Given the description of an element on the screen output the (x, y) to click on. 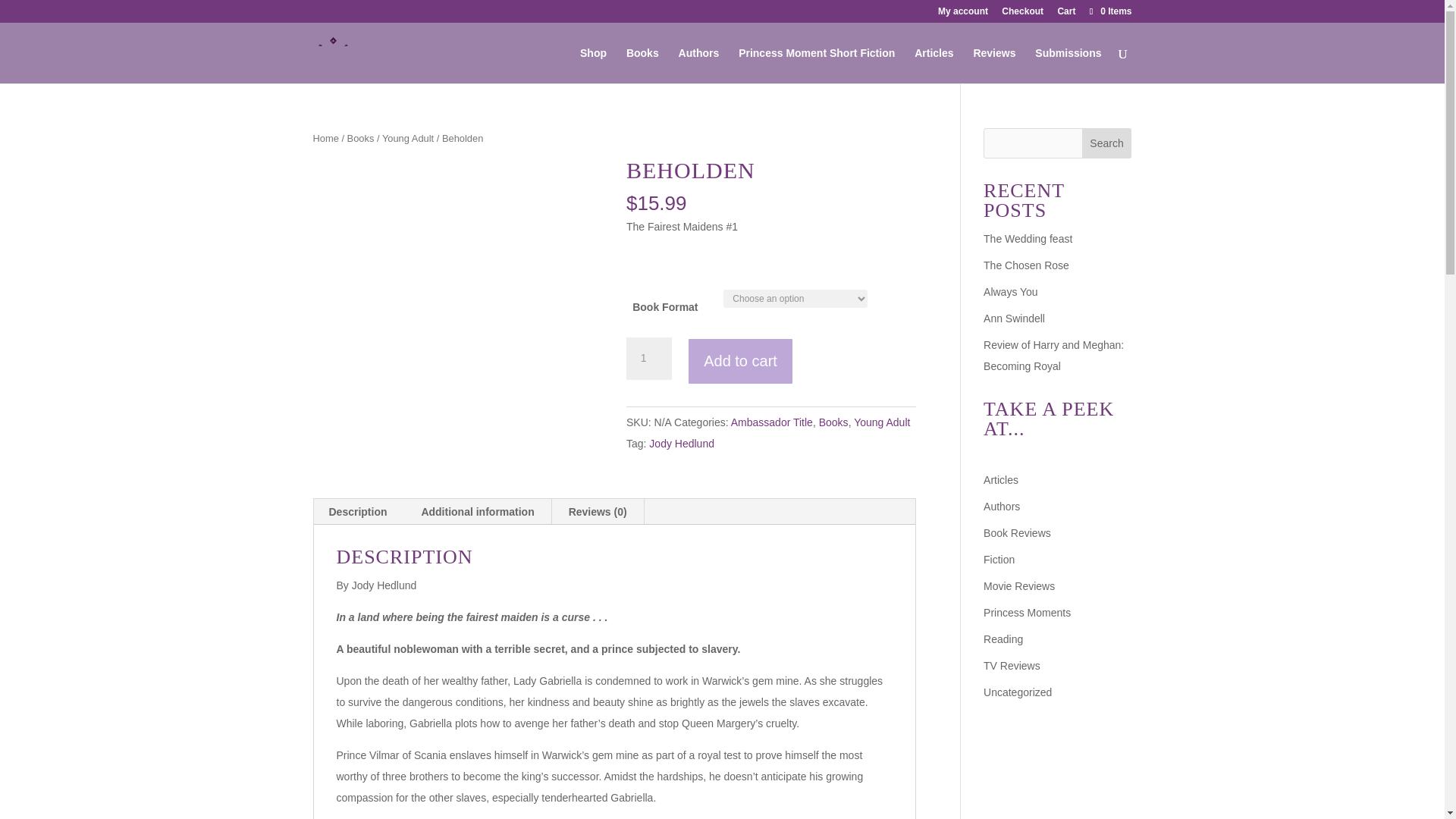
Ann Swindell (1014, 318)
Princess Moment Short Fiction (816, 65)
Articles (1000, 480)
Authors (1002, 506)
1 (648, 358)
Young Adult (881, 422)
0 Items (1108, 10)
Young Adult (407, 138)
Books (833, 422)
Articles (933, 65)
The Chosen Rose (1026, 265)
Books (360, 138)
Jody Hedlund (681, 443)
Additional information (477, 511)
The Wedding feast (1027, 238)
